Given the description of an element on the screen output the (x, y) to click on. 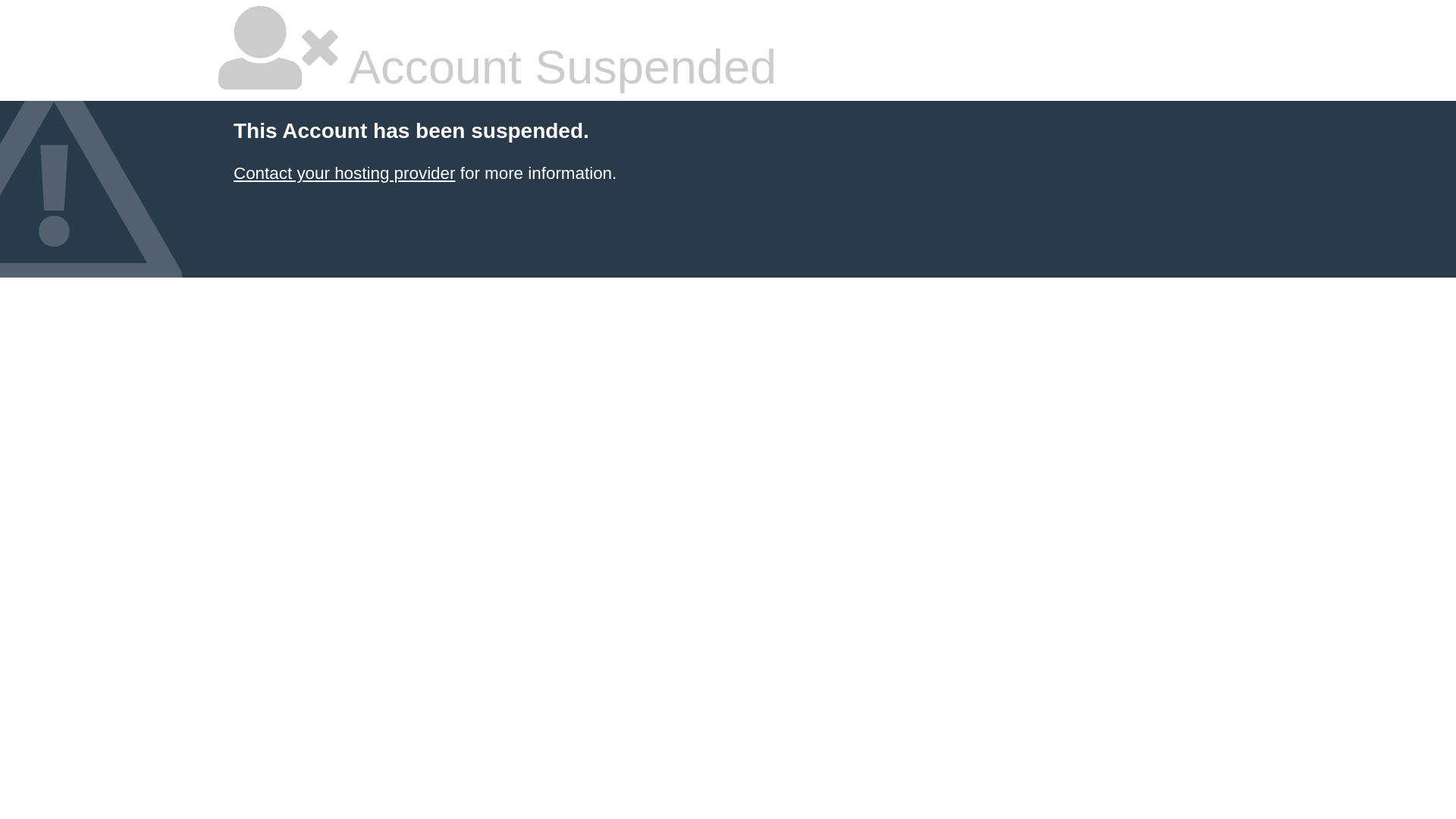
Contact your hosting provider Element type: text (344, 172)
